Given the description of an element on the screen output the (x, y) to click on. 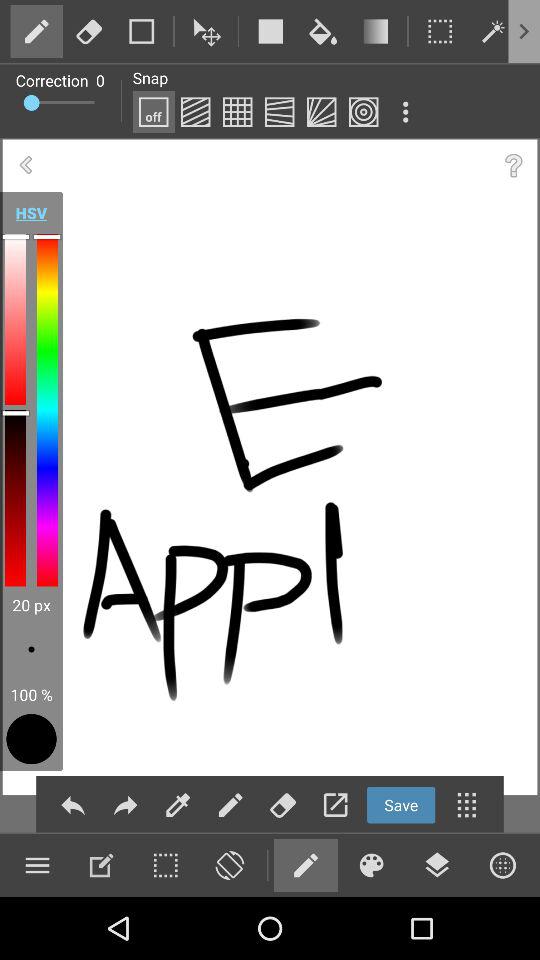
use pencil to draw (305, 865)
